Given the description of an element on the screen output the (x, y) to click on. 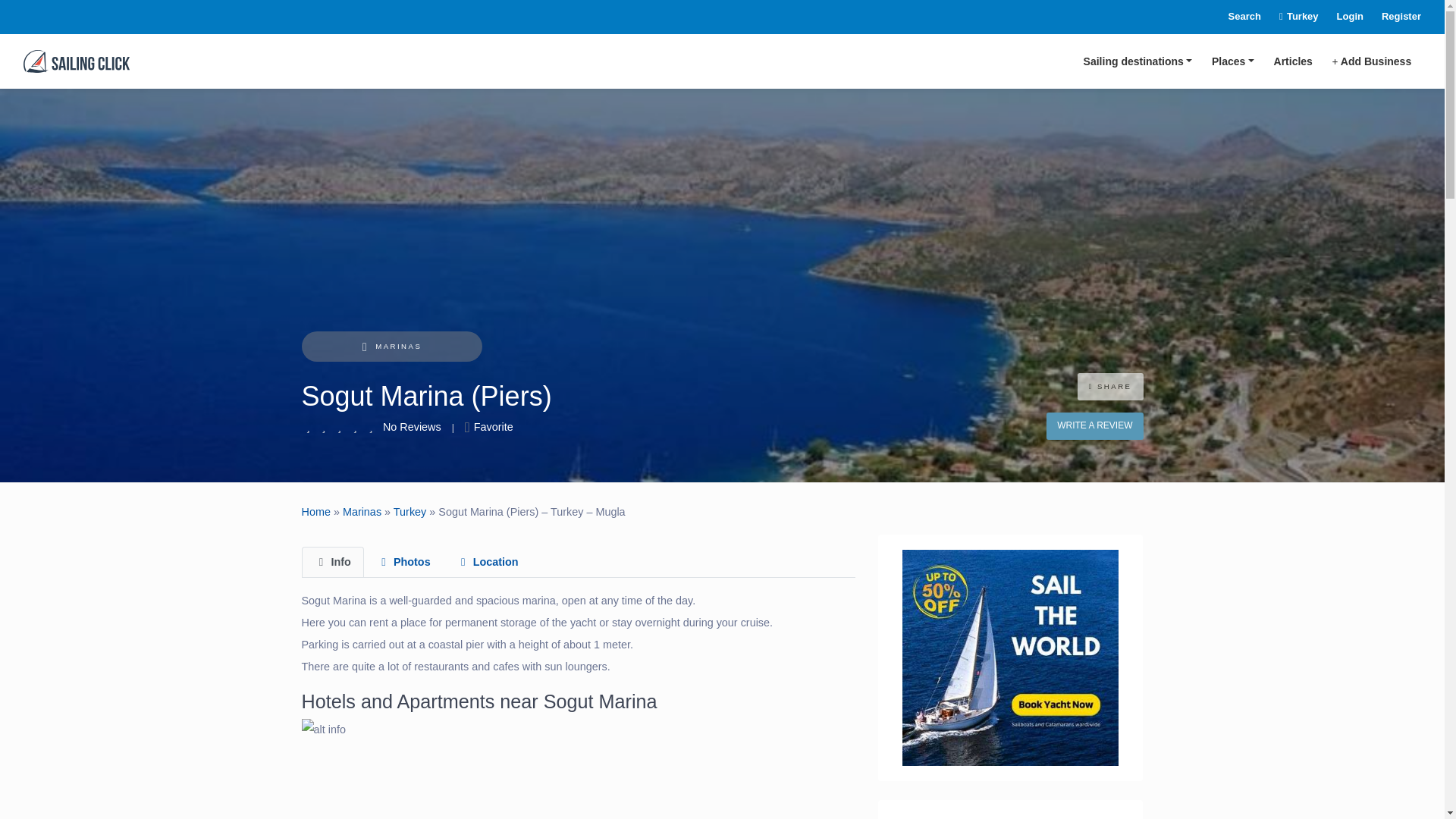
Login (1340, 17)
Register (1391, 17)
Register (1391, 17)
Login (1340, 17)
Location (487, 562)
Sailing destinations (1138, 61)
Info (332, 562)
Search (1234, 17)
 Turkey (1289, 17)
Turkey (1289, 17)
Search (1234, 17)
Photos (404, 562)
Sailing destinations (1138, 61)
